Given the description of an element on the screen output the (x, y) to click on. 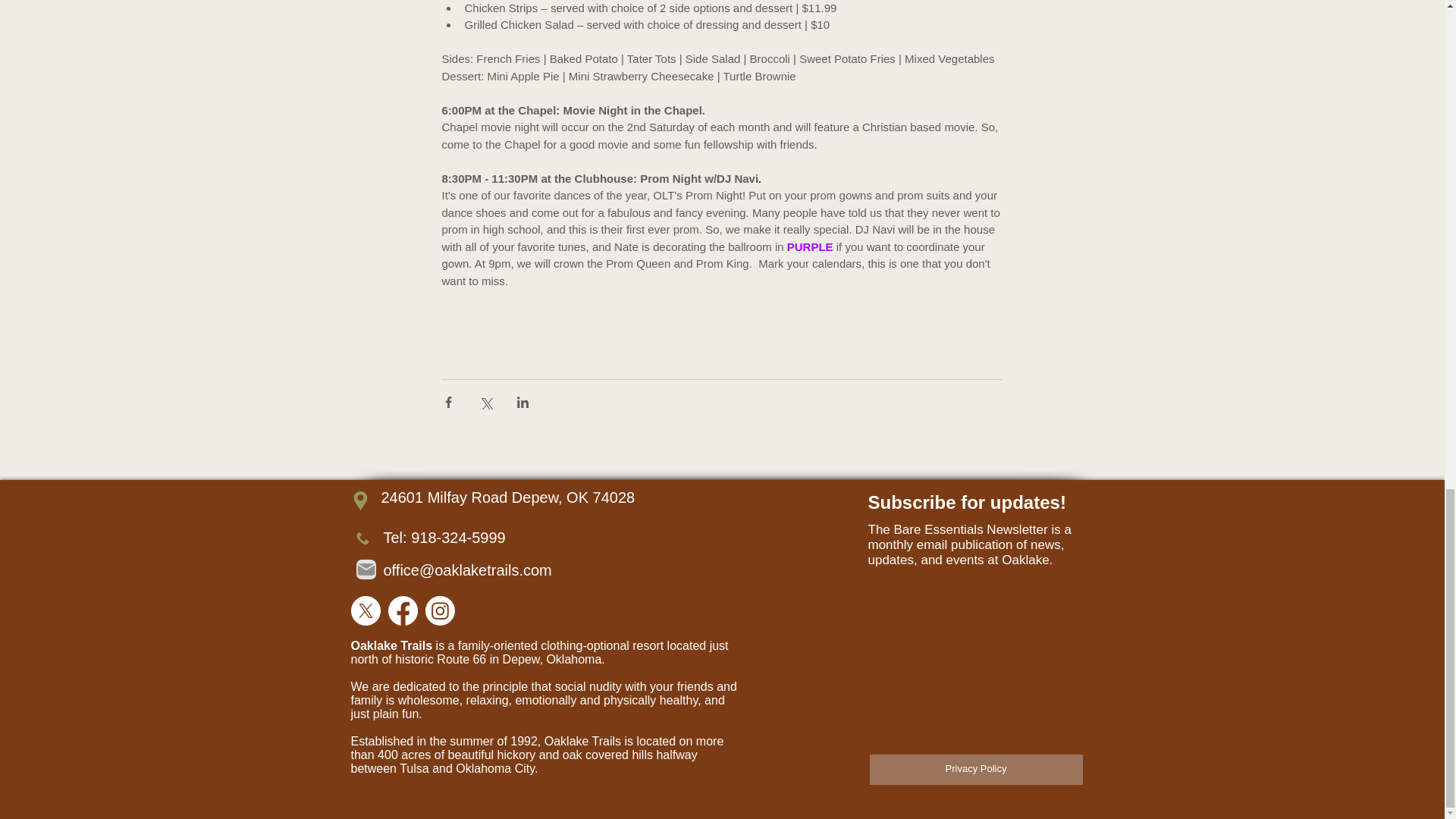
24601 Milfay Road Depew, OK 74028 (507, 496)
Tel: 918-324-5999 (444, 537)
Privacy Policy (975, 768)
